Given the description of an element on the screen output the (x, y) to click on. 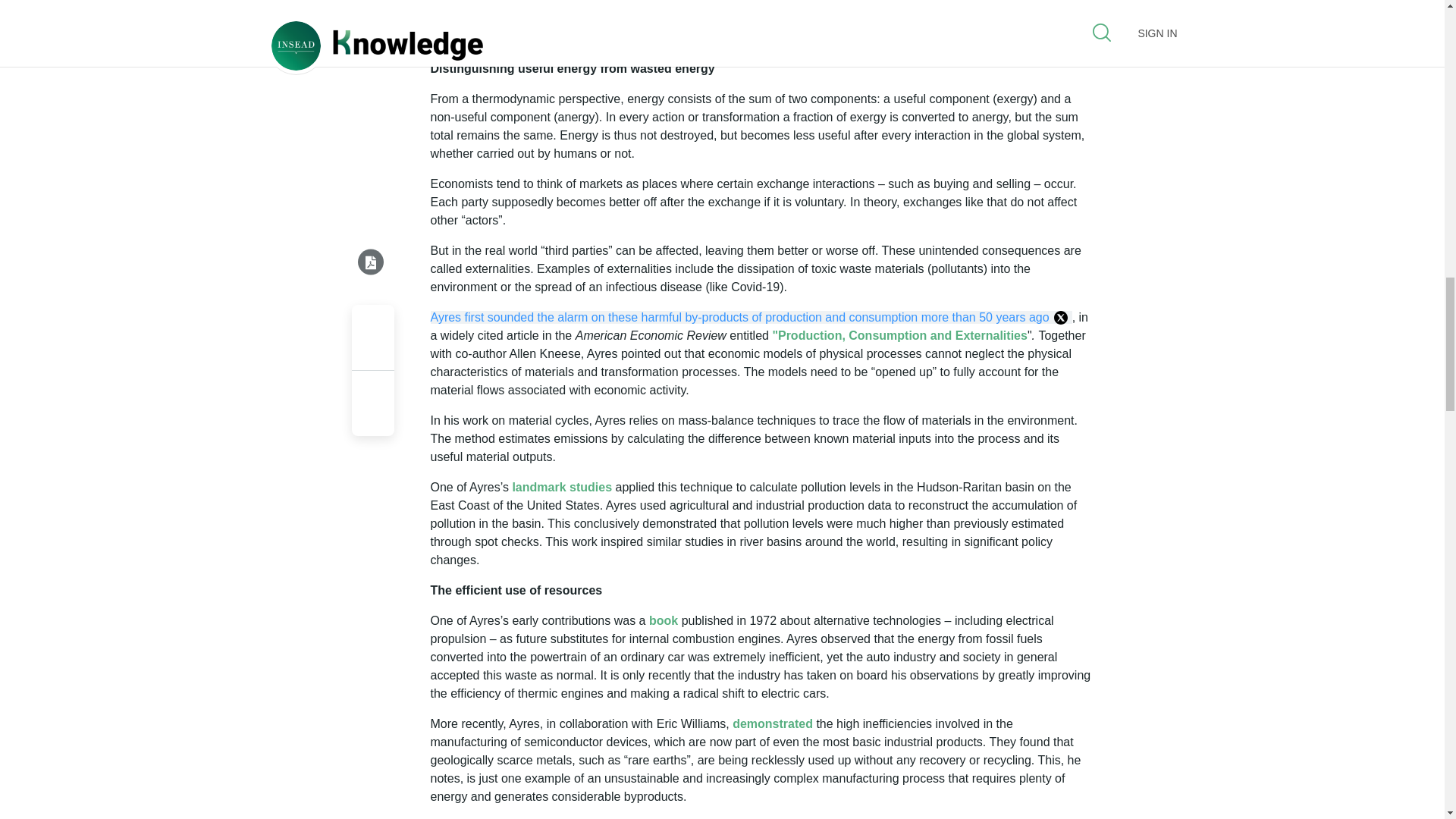
book (663, 620)
landmark studies (561, 486)
"Production, Consumption and Externalities (899, 335)
demonstrated (773, 723)
